Given the description of an element on the screen output the (x, y) to click on. 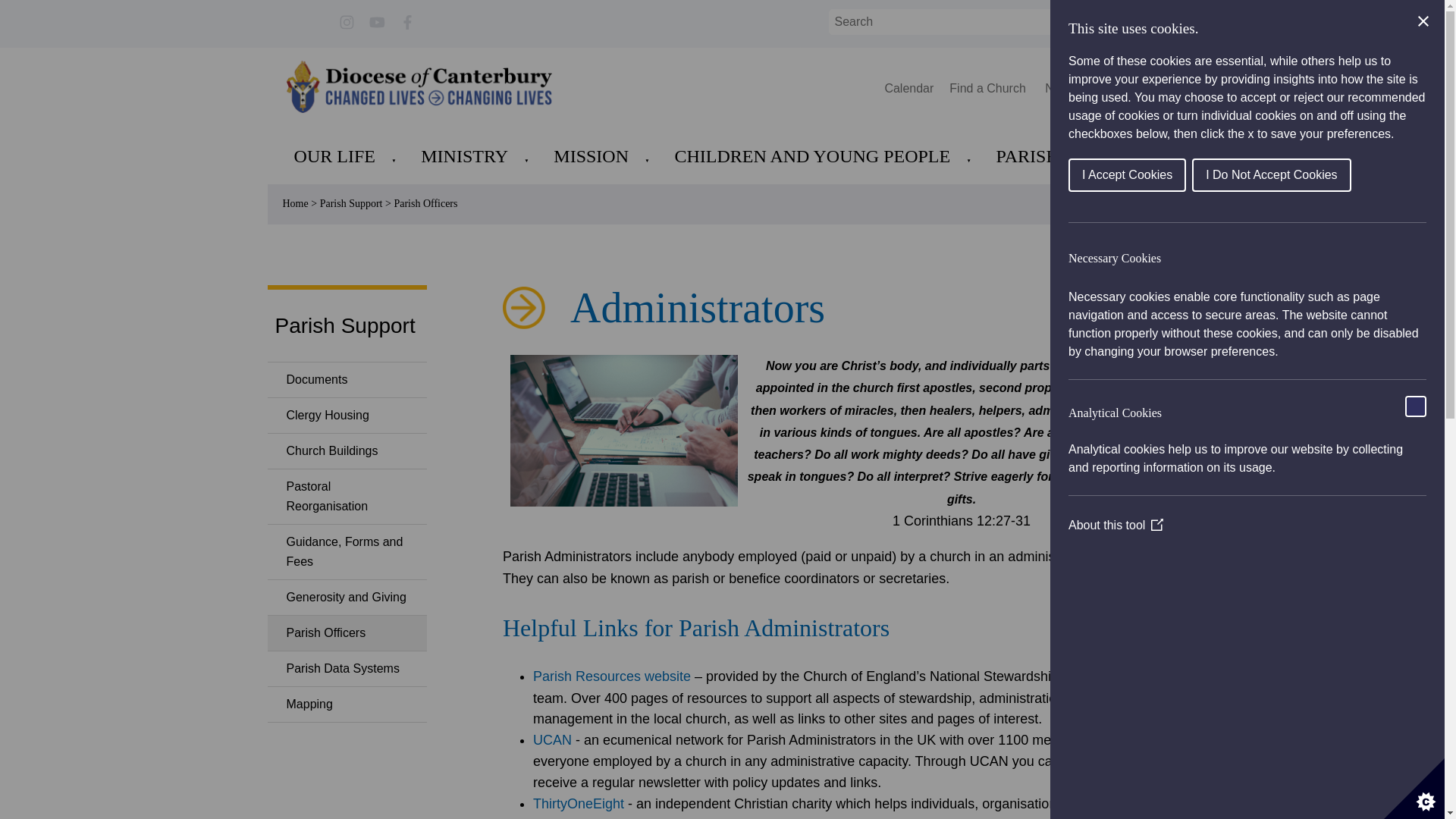
I Accept Cookies (1360, 174)
News (1060, 88)
Diocese of Canterbury Logo (418, 85)
Find a Church (989, 88)
Safeguarding (1126, 88)
Calendar (908, 88)
